Given the description of an element on the screen output the (x, y) to click on. 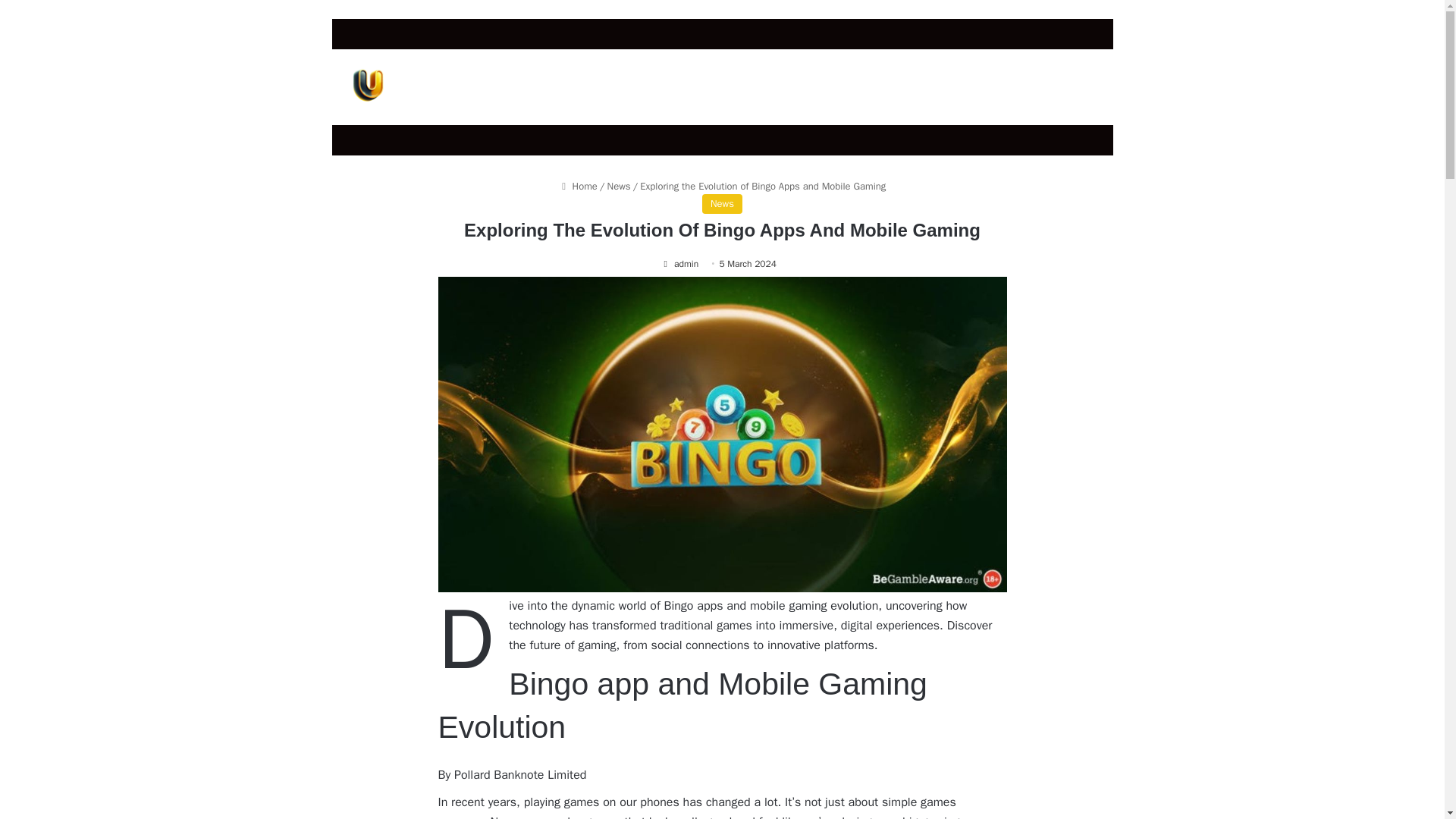
Ubetoo (365, 86)
admin (678, 263)
News (721, 203)
admin (678, 263)
News (618, 185)
Home (577, 185)
